Given the description of an element on the screen output the (x, y) to click on. 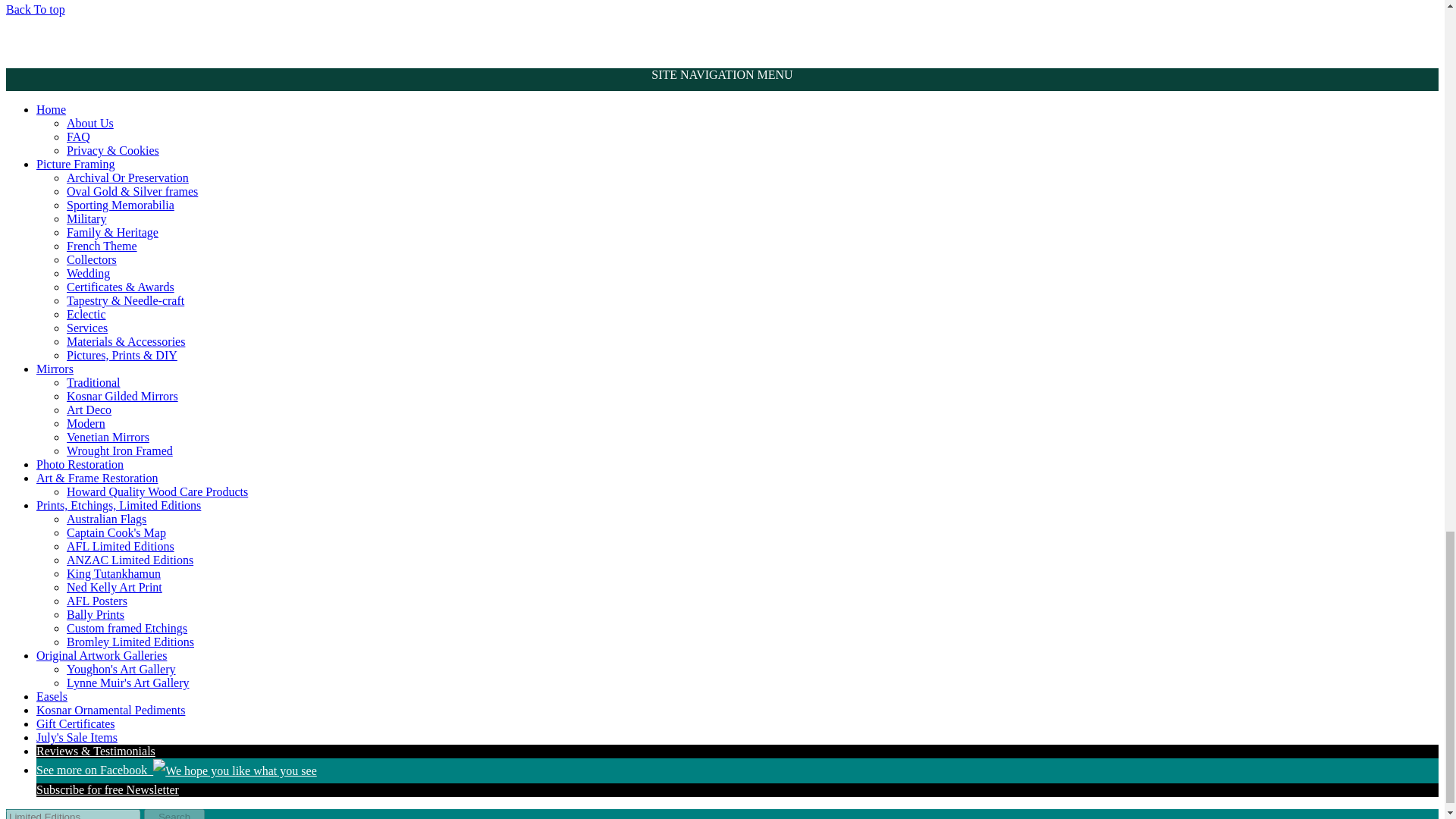
perfect for photos (132, 191)
Privacy and Security are very important! (112, 150)
Wedding (88, 273)
FAQ (78, 136)
Here the customer comes first (89, 123)
Picture Framing (75, 164)
It's all in the Frame (75, 164)
Howard Quality Wood Care Products (156, 491)
Collectors (91, 259)
About Us (89, 123)
Venetian Mirrors (107, 436)
French Theme (101, 245)
Where Picture Framing is an Art (50, 109)
Archival Or Preservation (127, 177)
Military (86, 218)
